Given the description of an element on the screen output the (x, y) to click on. 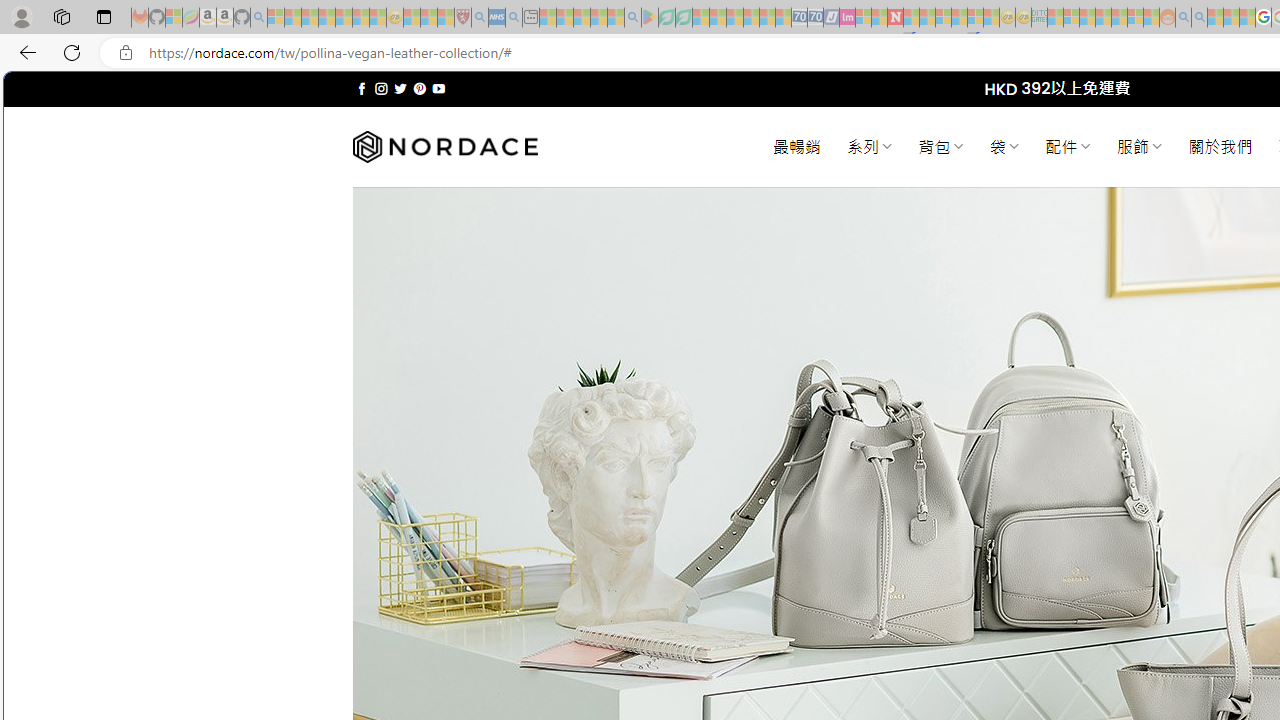
Expert Portfolios - Sleeping (1103, 17)
